Given the description of an element on the screen output the (x, y) to click on. 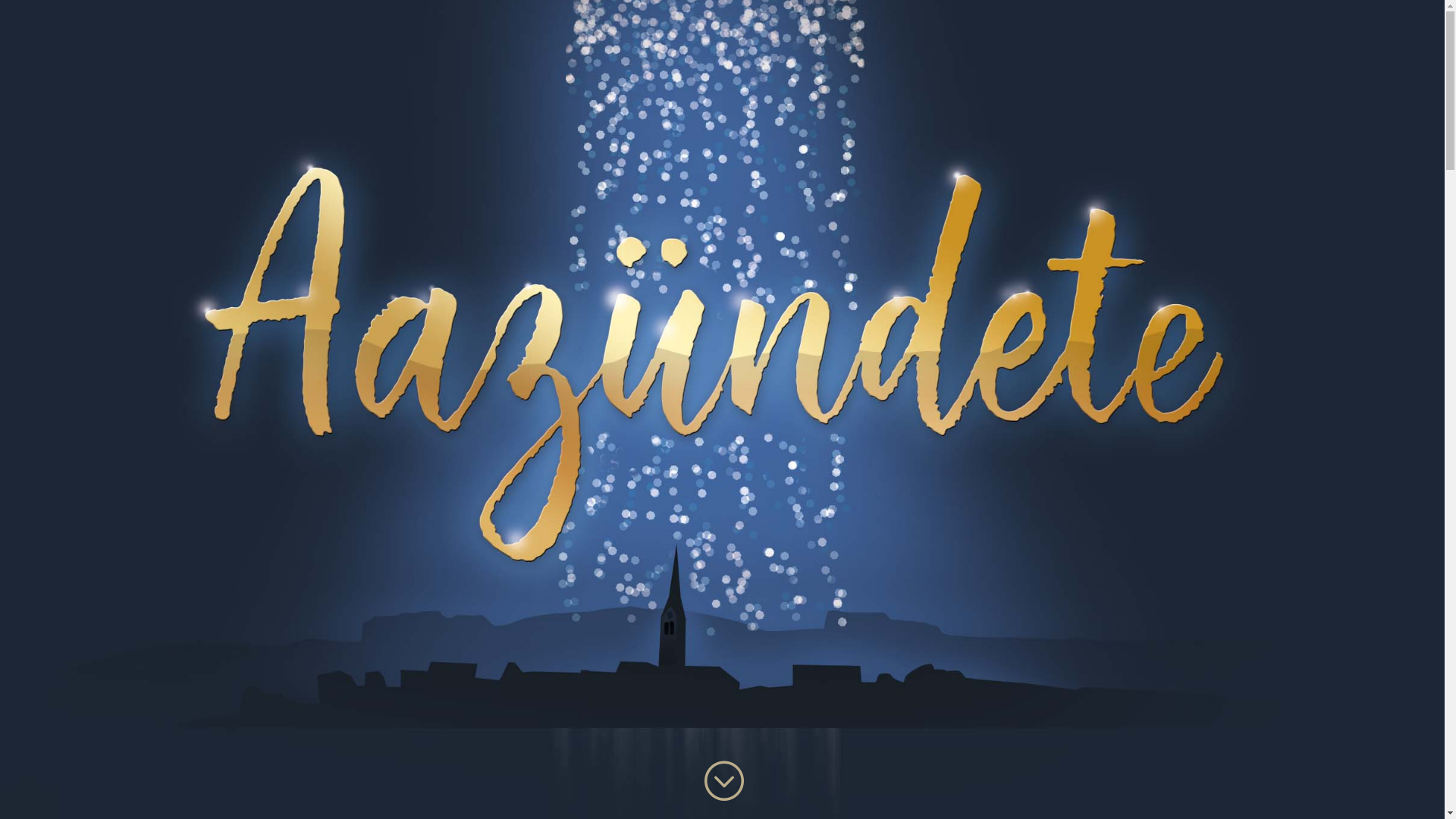
; Element type: text (721, 780)
